Given the description of an element on the screen output the (x, y) to click on. 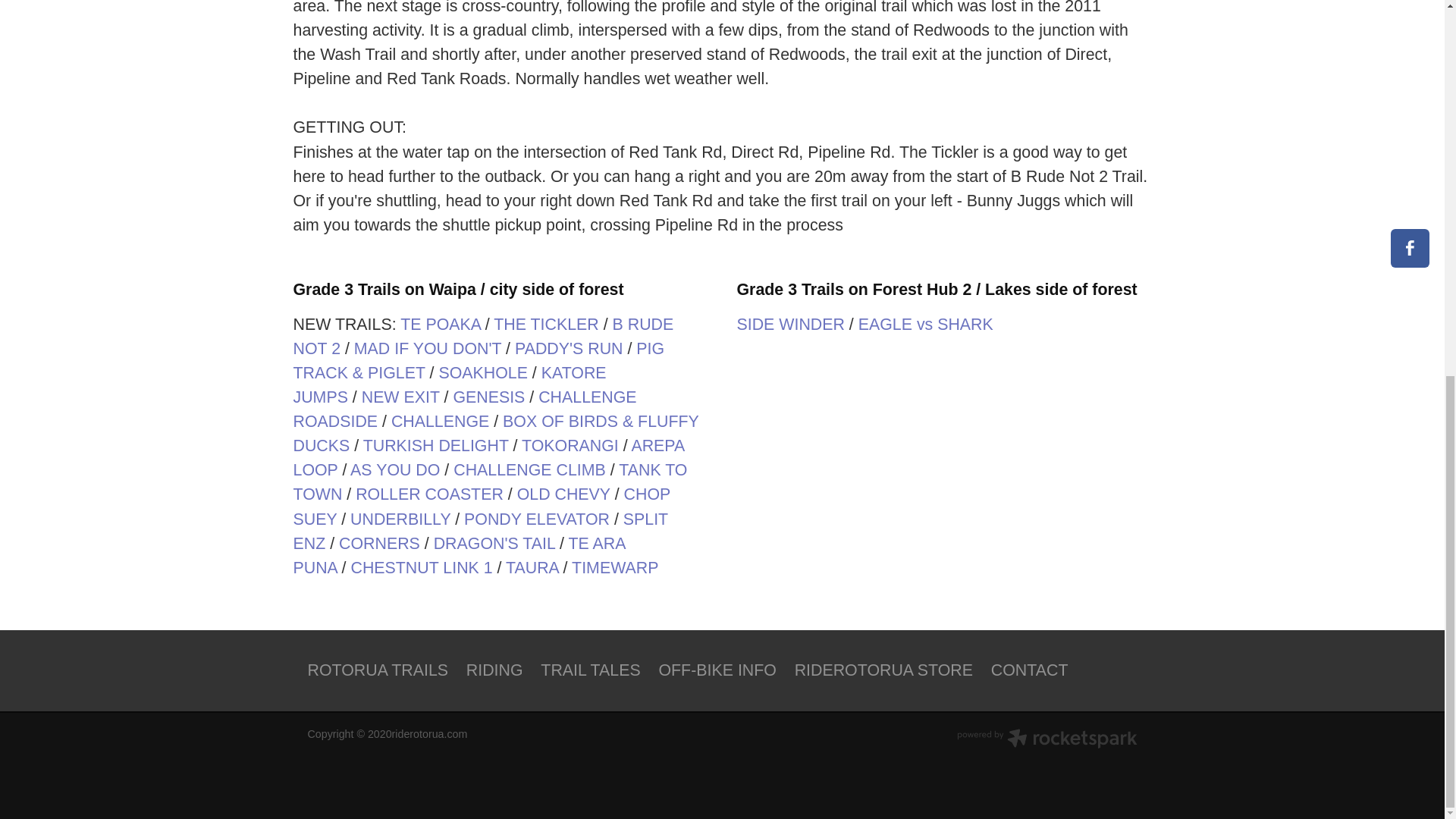
SOAKHOLE (482, 372)
PADDY'S RUN (569, 348)
TE POAKA (440, 324)
THE TICKLER (545, 324)
B RUDE NOT 2 (482, 336)
GENESIS (488, 397)
NEW EXIT (400, 397)
MAD IF YOU DON'T (426, 348)
CHALLENGE ROADSIDE (464, 409)
Rocketspark website builder (1046, 740)
KATORE JUMPS (448, 384)
